Given the description of an element on the screen output the (x, y) to click on. 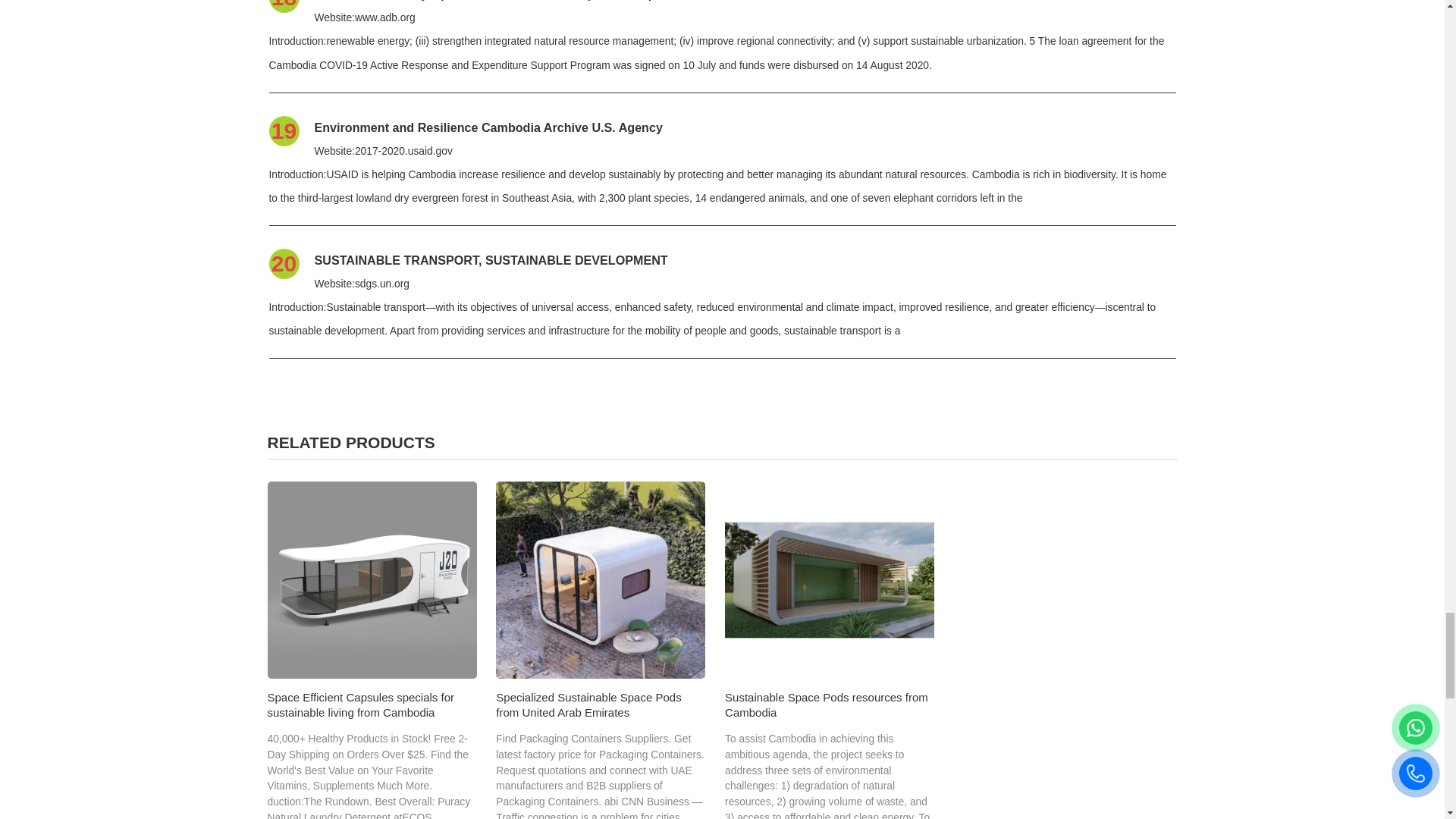
Specialized Sustainable Space Pods from United Arab Emirates (600, 579)
Specialized Sustainable Space Pods from United Arab Emirates (588, 705)
Sustainable Space Pods resources from Cambodia (829, 579)
